Given the description of an element on the screen output the (x, y) to click on. 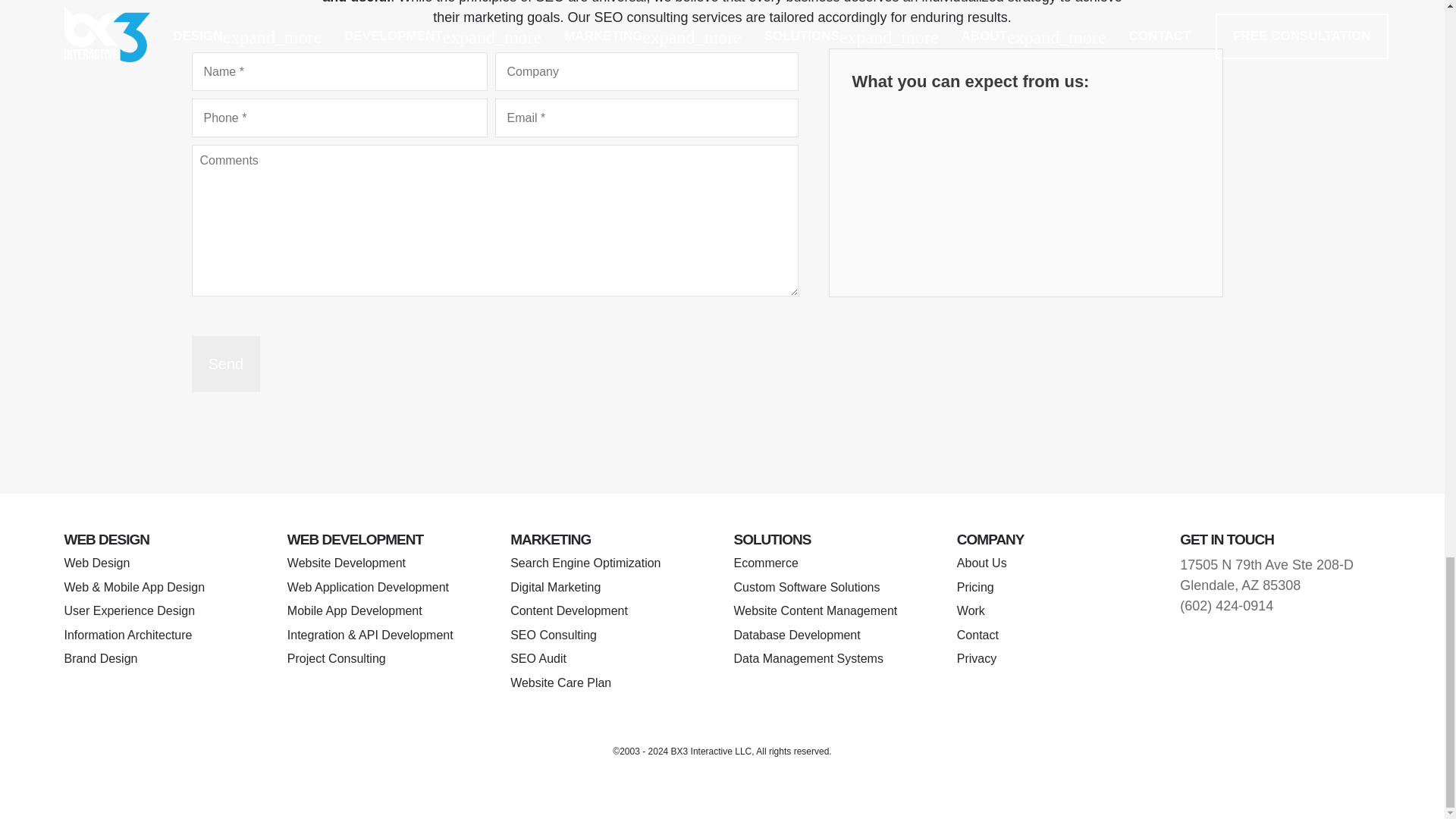
Send (225, 363)
Web Design (96, 562)
Send (225, 363)
